Given the description of an element on the screen output the (x, y) to click on. 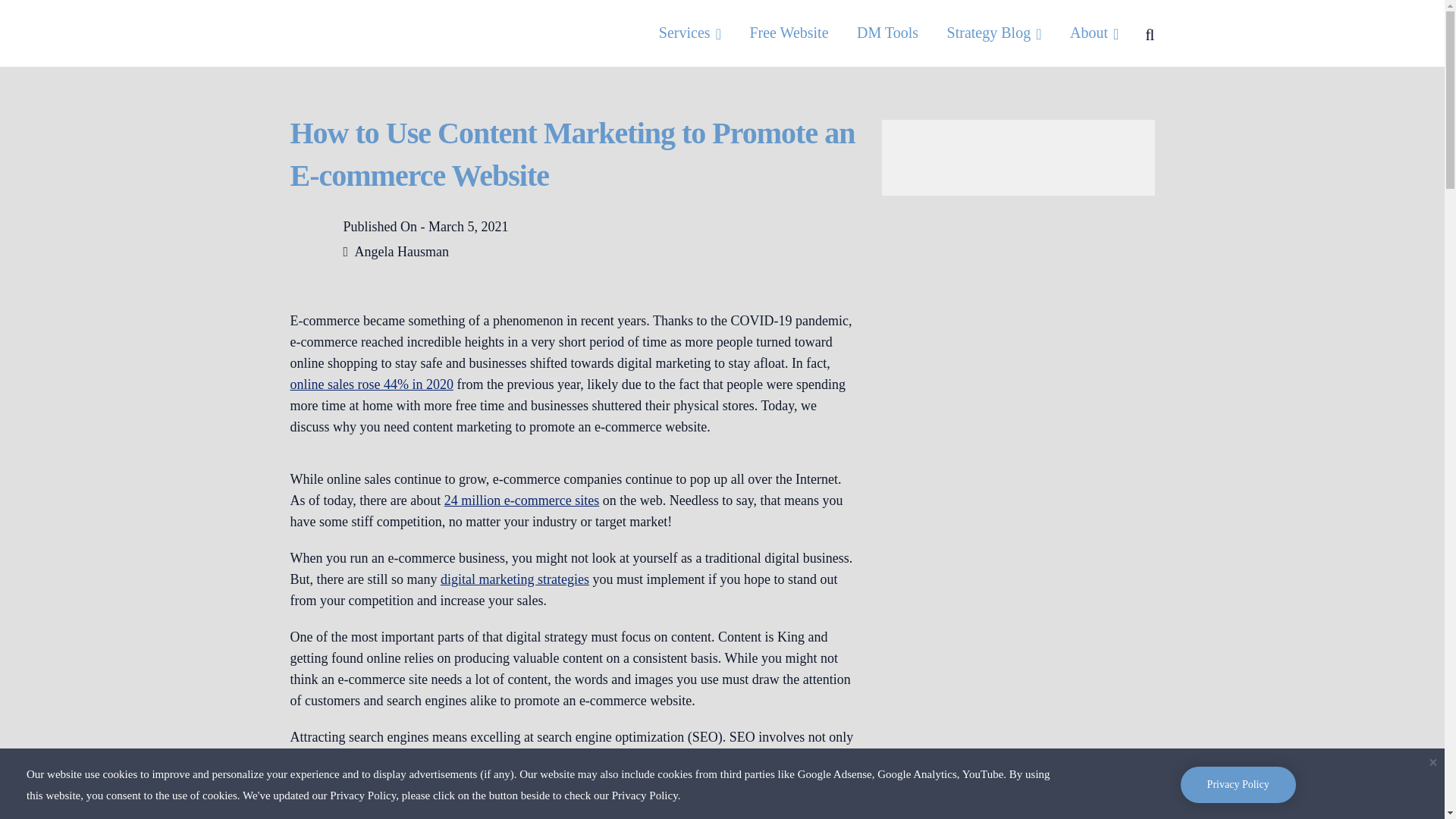
Strategy Blog (994, 33)
DM Tools (887, 33)
Free Website (788, 33)
DM Tools (887, 33)
Privacy Policy (1237, 784)
Services (689, 33)
